Given the description of an element on the screen output the (x, y) to click on. 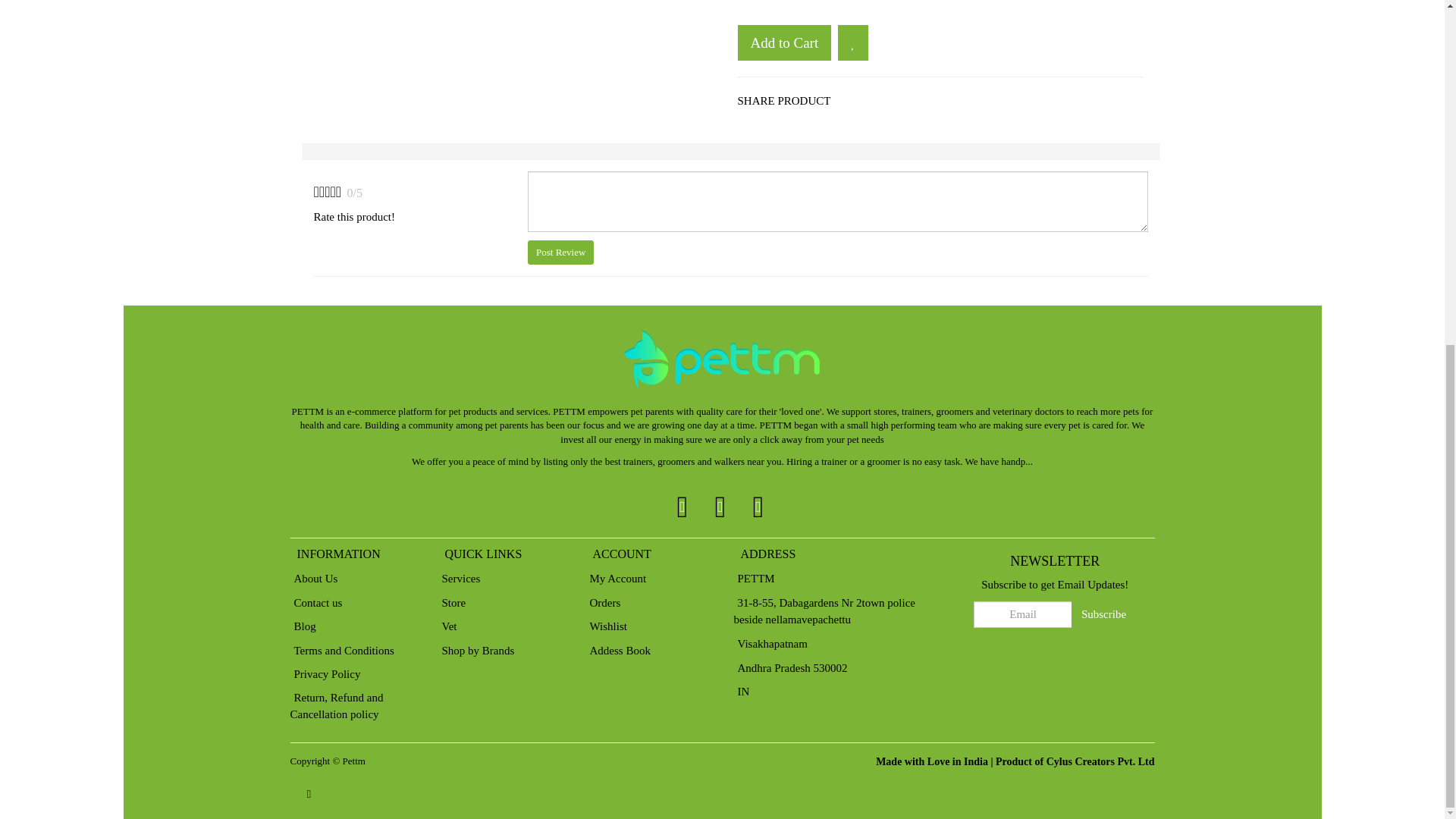
facebook (681, 505)
PetTM (722, 359)
twitter (719, 505)
instagram (757, 505)
PetTM (353, 760)
Add to Cart (783, 42)
